Given the description of an element on the screen output the (x, y) to click on. 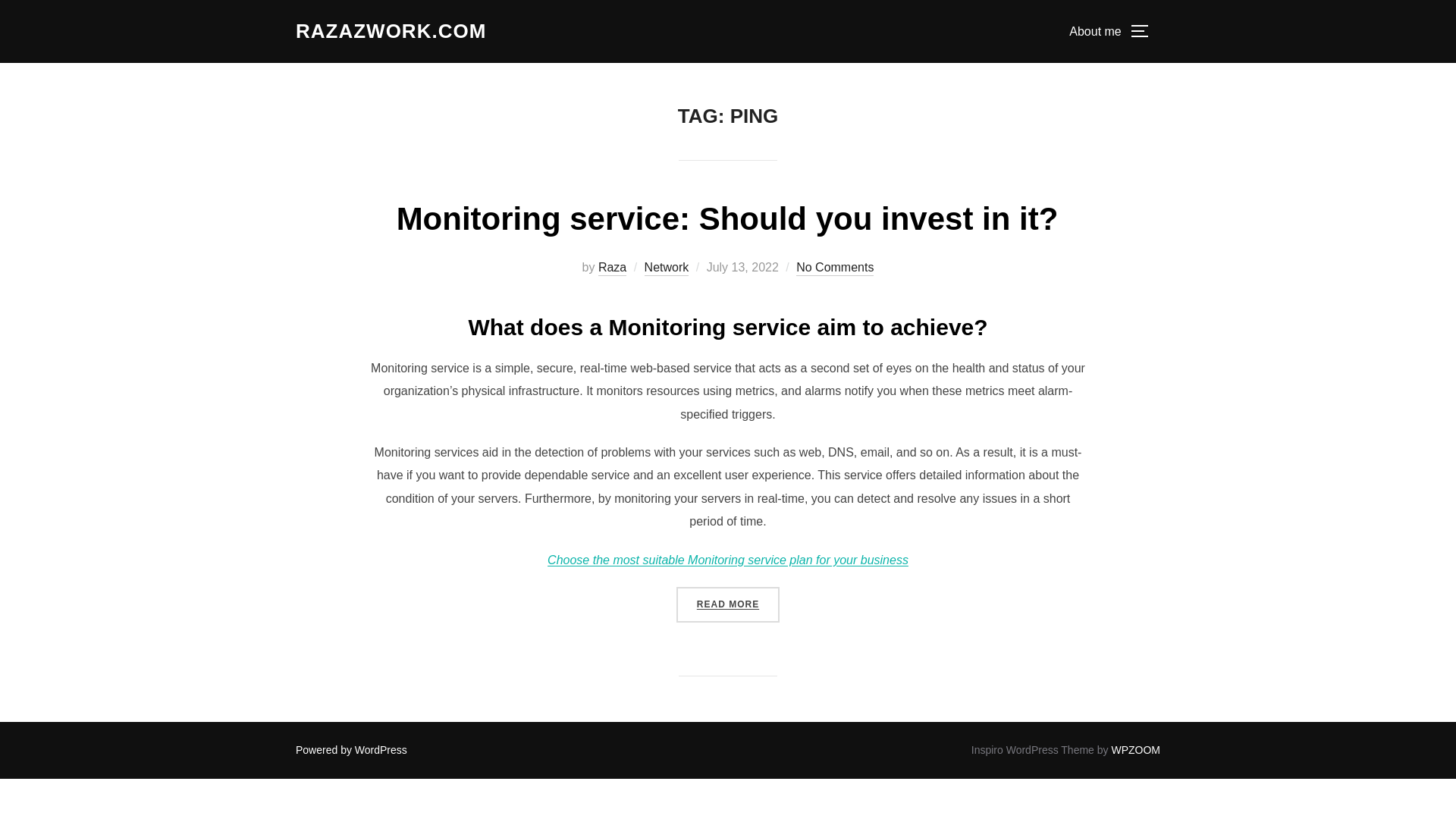
WPZOOM (1135, 749)
Raza (612, 268)
Monitoring service: Should you invest in it? (727, 218)
Raza's Blog (390, 31)
Powered by WordPress (351, 749)
RAZAZWORK.COM (390, 31)
No Comments (834, 268)
Network (666, 268)
About me (1094, 30)
